Given the description of an element on the screen output the (x, y) to click on. 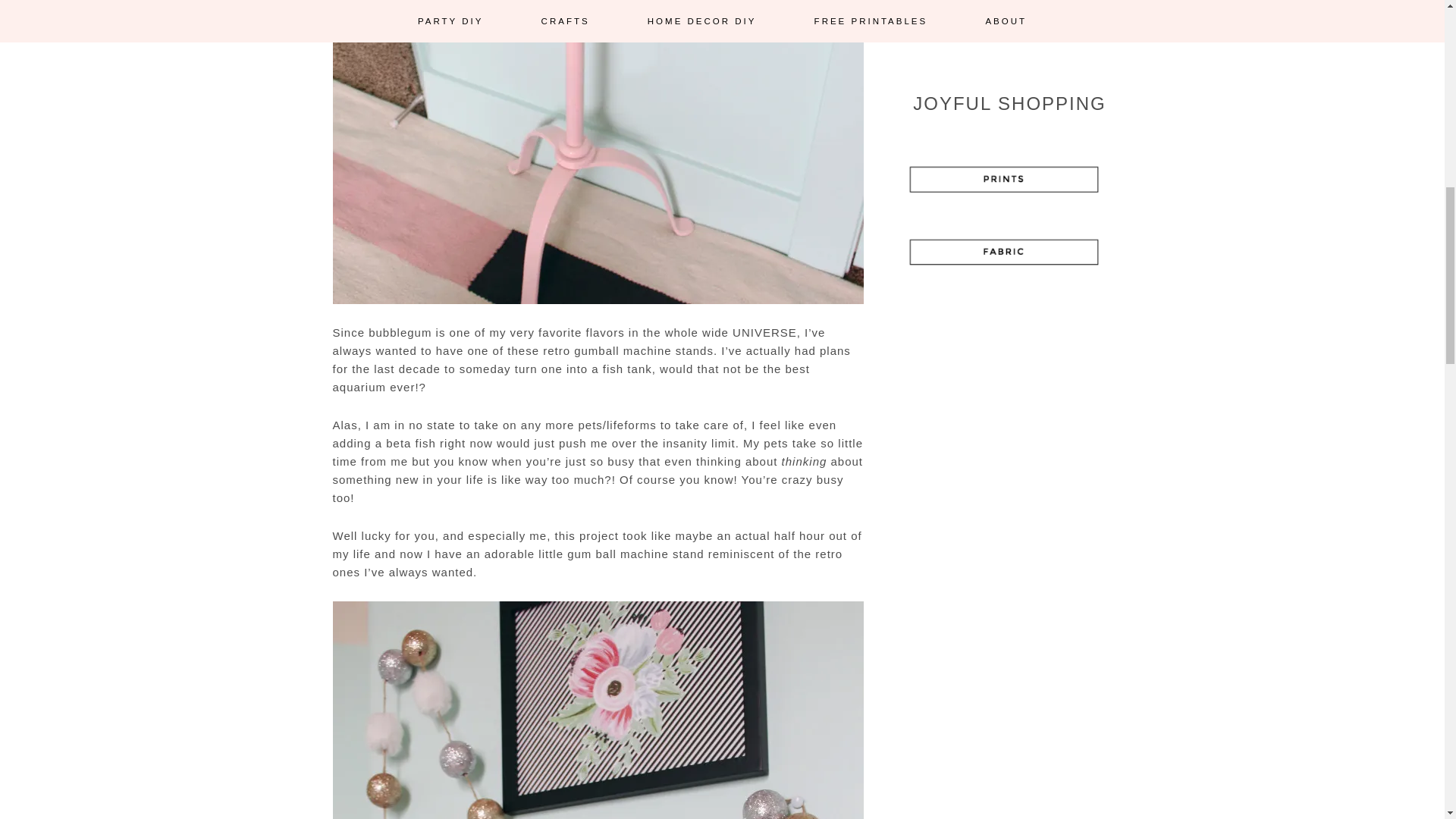
Sign up (1008, 23)
Sign up (1008, 23)
